Given the description of an element on the screen output the (x, y) to click on. 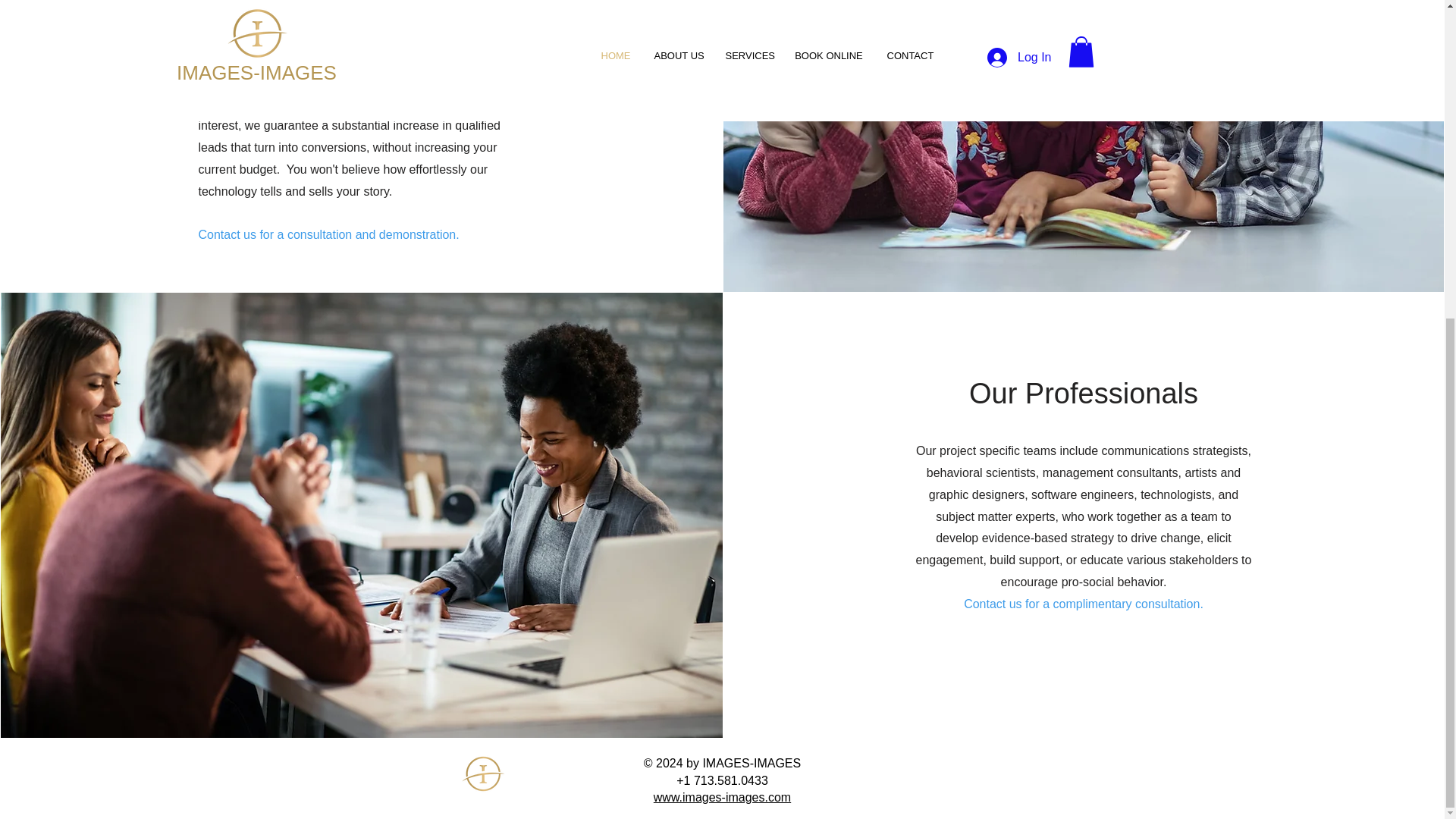
Contact us for a consultation and demonstration (326, 234)
complimentary consultation (1125, 603)
www.images-images.com (721, 797)
